Given the description of an element on the screen output the (x, y) to click on. 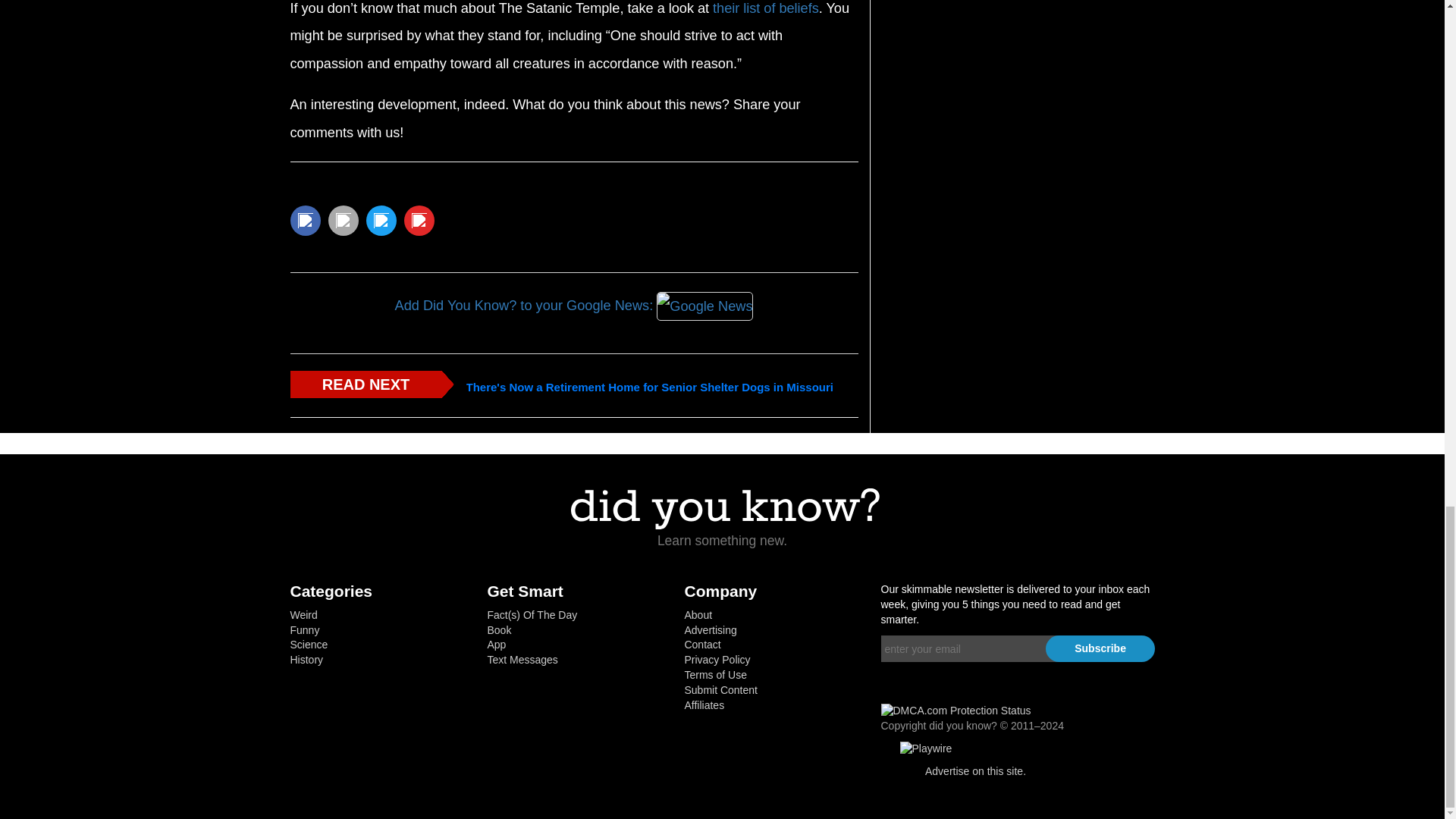
Subscribe (1100, 648)
their list of beliefs (765, 7)
DMCA.com Protection Status (955, 709)
Google News (704, 306)
